Given the description of an element on the screen output the (x, y) to click on. 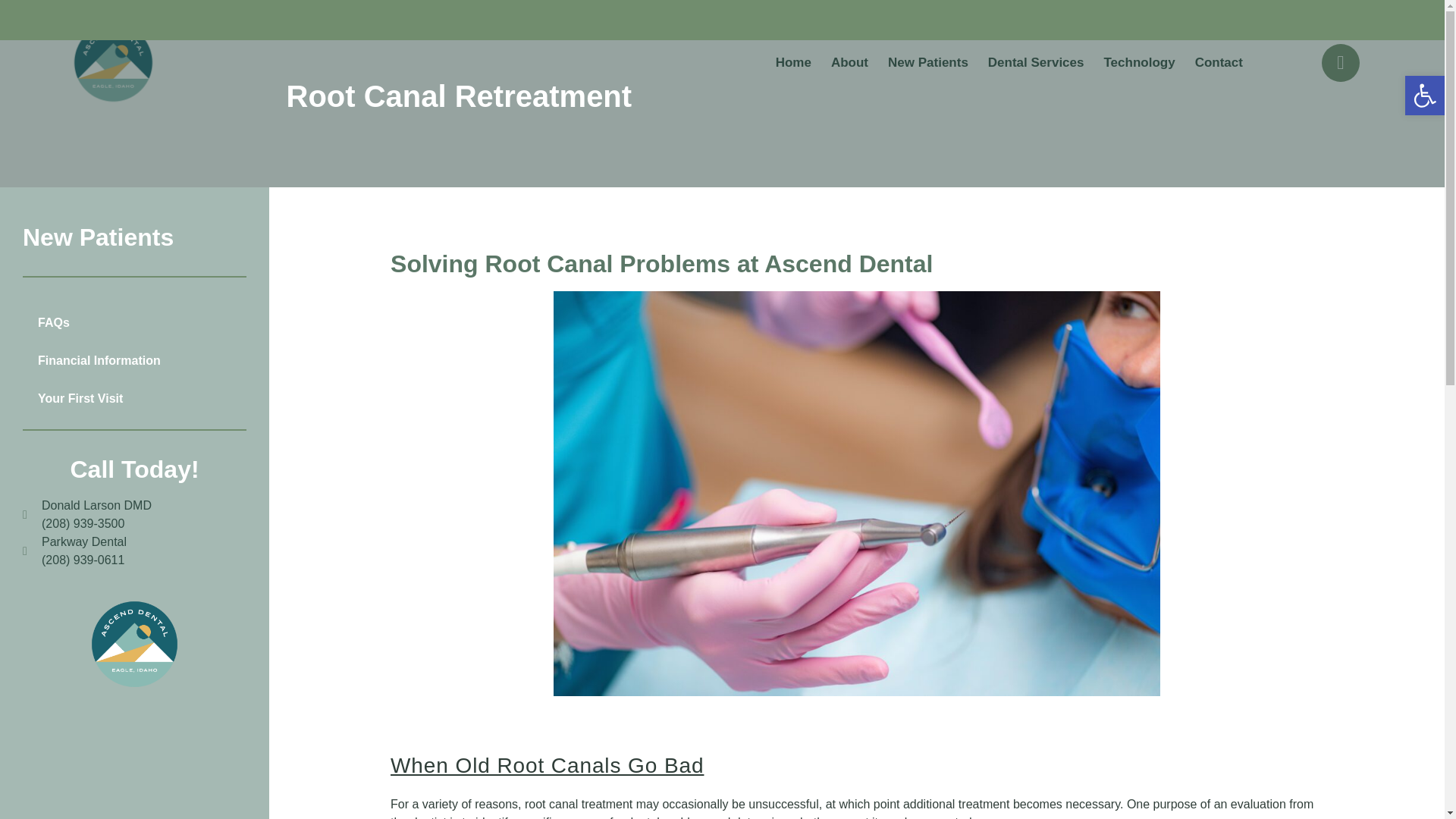
New Patients (927, 62)
Accessibility Tools (1424, 95)
About (849, 62)
Home (793, 62)
Dental Services (1036, 62)
